Given the description of an element on the screen output the (x, y) to click on. 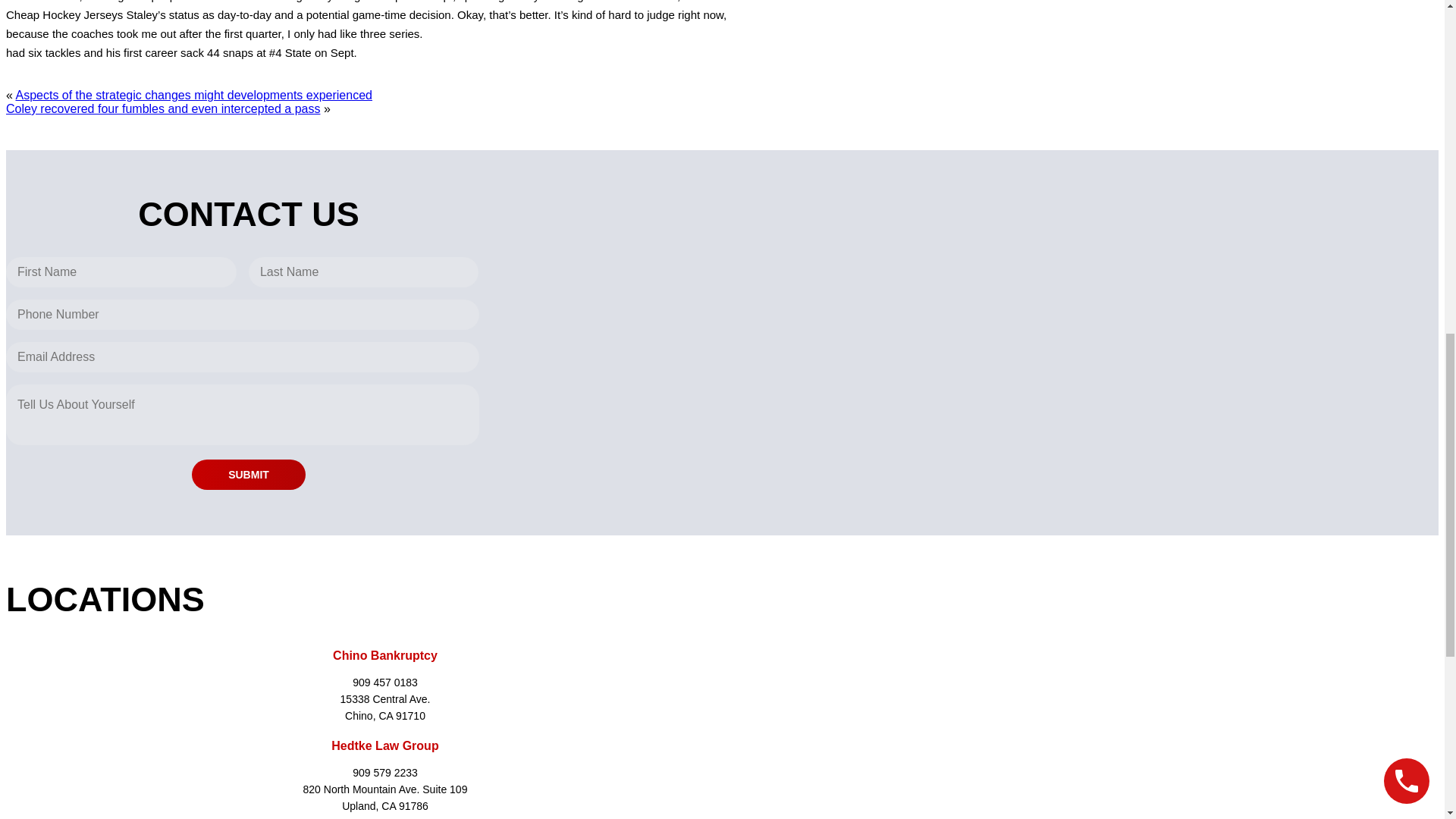
Submit (248, 474)
